Given the description of an element on the screen output the (x, y) to click on. 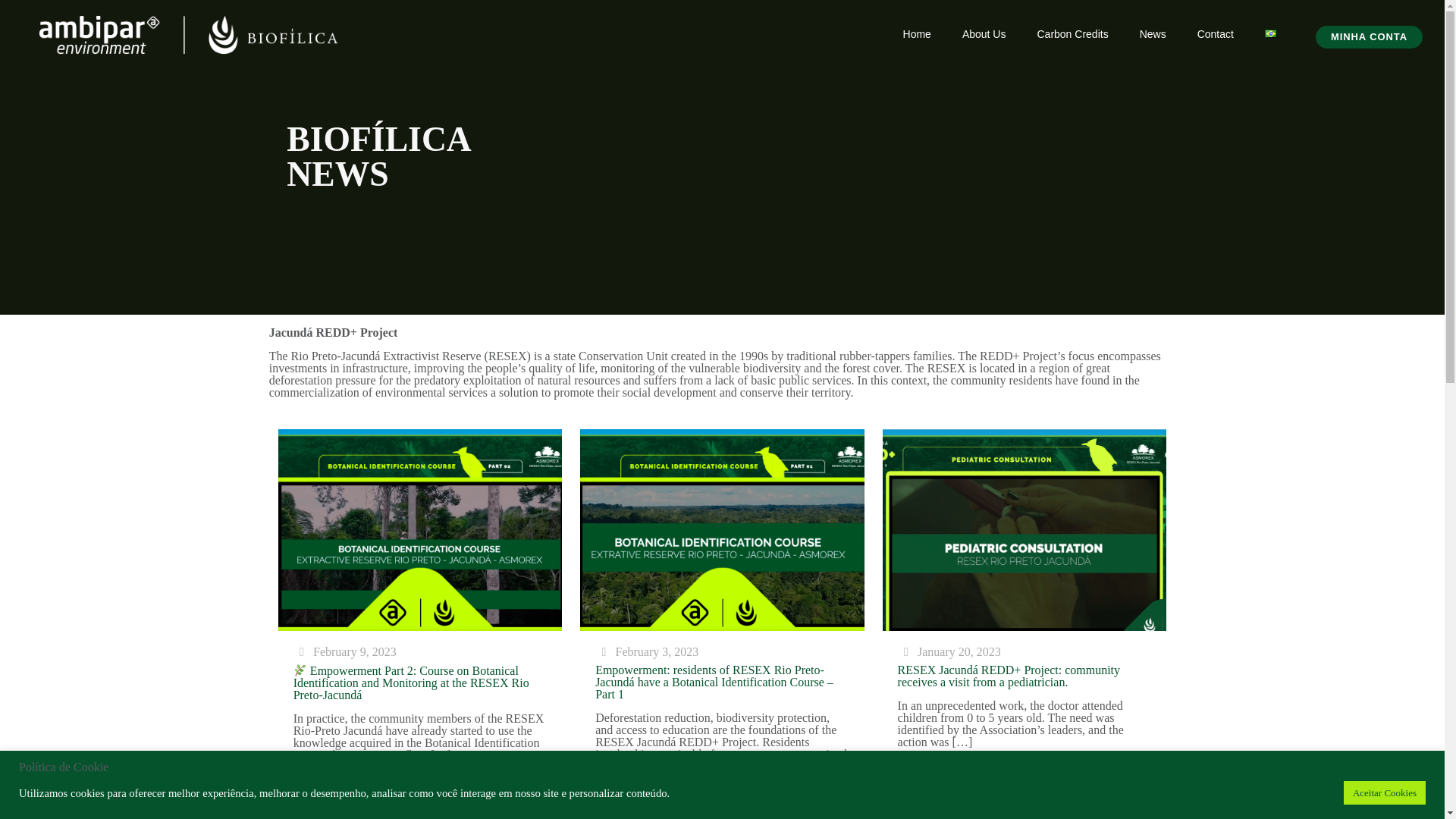
MINHA CONTA (1369, 36)
Carbon Credits (1073, 33)
About Us (984, 33)
Contact (1215, 33)
Read More (523, 792)
Read More (825, 803)
